Given the description of an element on the screen output the (x, y) to click on. 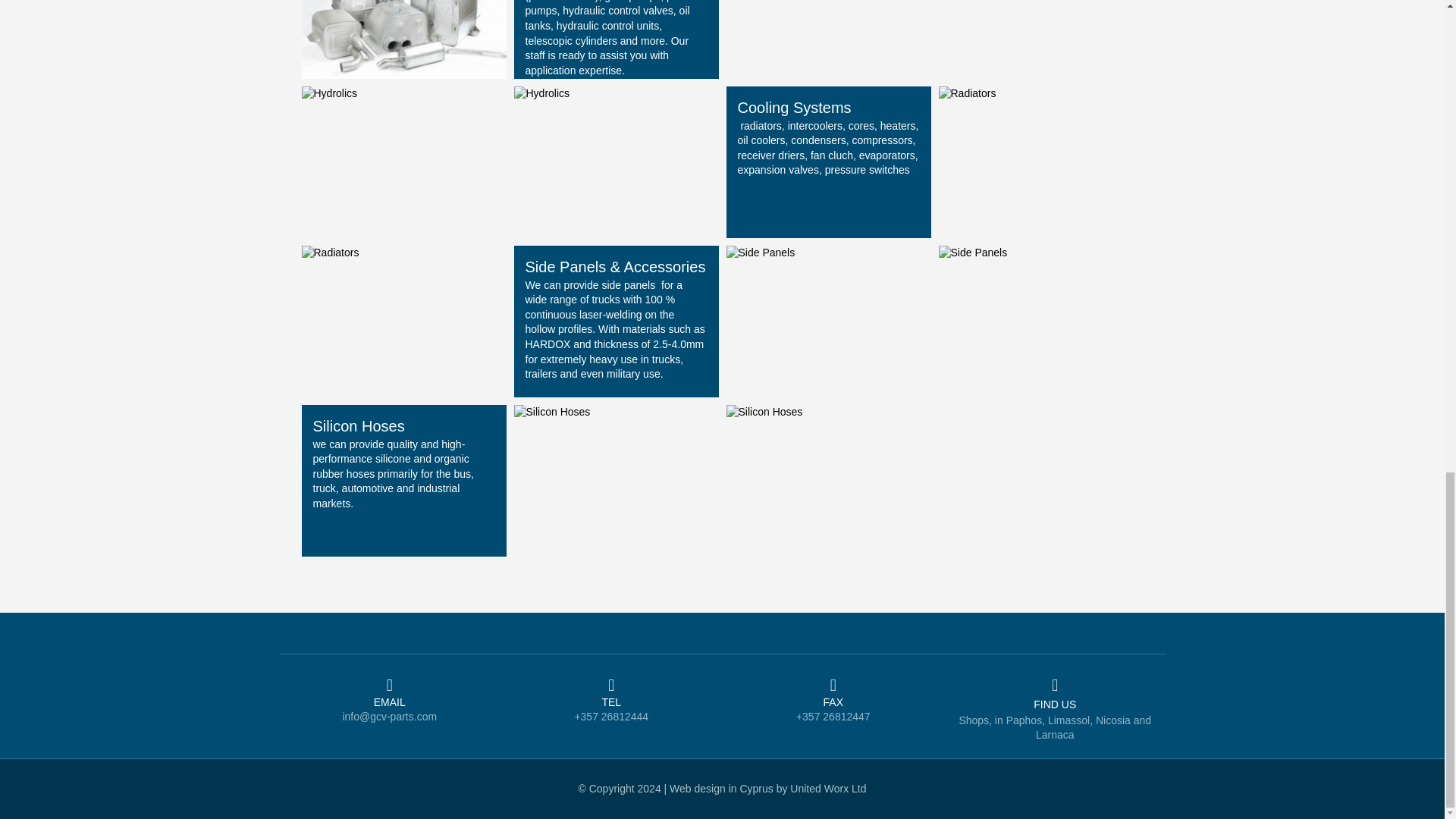
Radiators (967, 92)
Silicon Hoses (552, 411)
Hydrolics (541, 92)
Radiators (330, 252)
FIND US (1054, 704)
Side Panels (760, 252)
Hydrolics (329, 92)
Exaust (403, 4)
Web design in Cyprus by United Worx Ltd (767, 788)
Side Panels (973, 252)
